Given the description of an element on the screen output the (x, y) to click on. 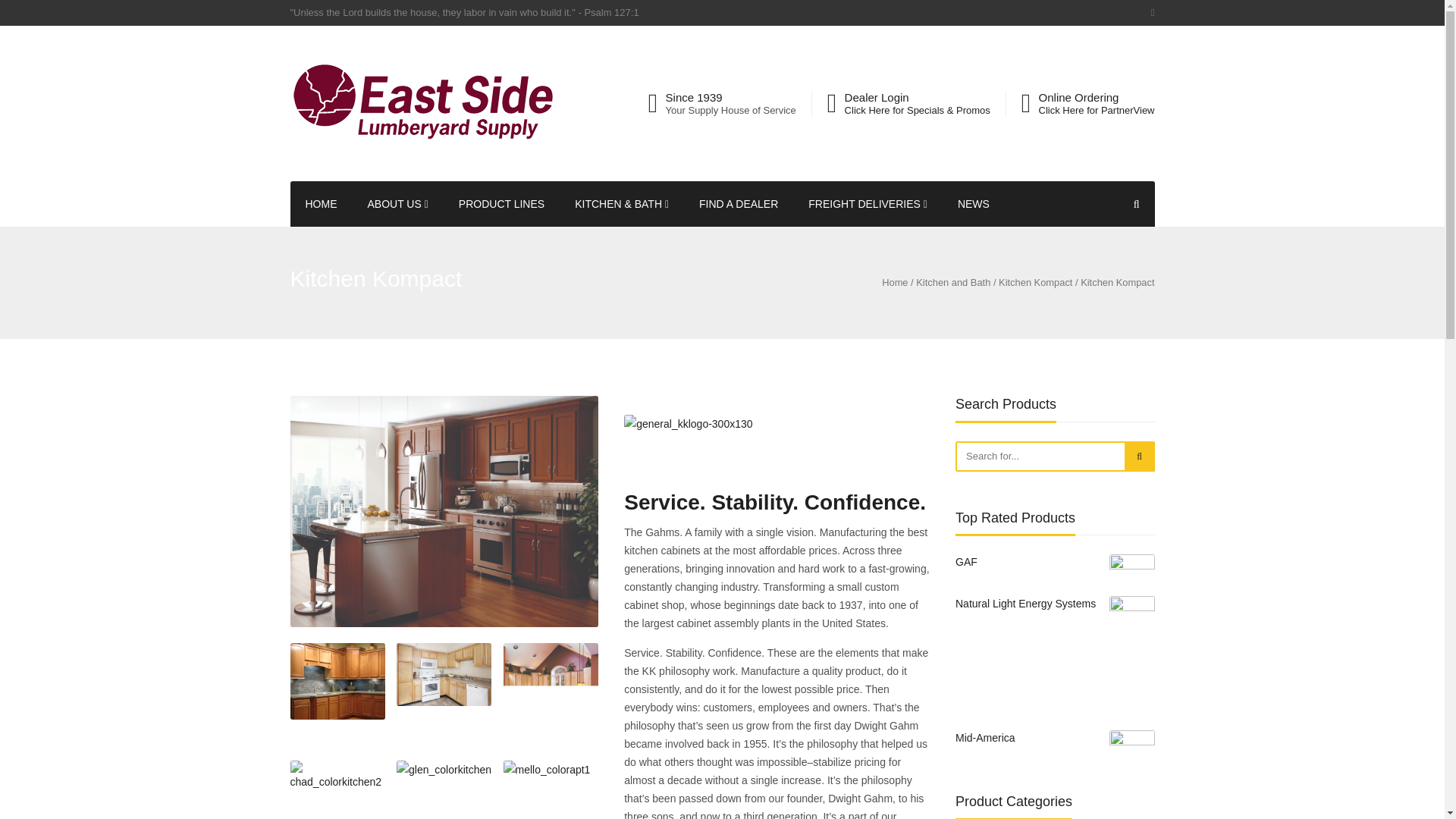
Find a Dealer (738, 203)
Home (320, 203)
FREIGHT DELIVERIES (867, 203)
Freight Deliveries (867, 203)
FIND A DEALER (738, 203)
HOME (320, 203)
Kitchen and Bath (952, 282)
ABOUT US (397, 203)
PRODUCT LINES (501, 203)
Click Here for PartnerView (1096, 110)
